Given the description of an element on the screen output the (x, y) to click on. 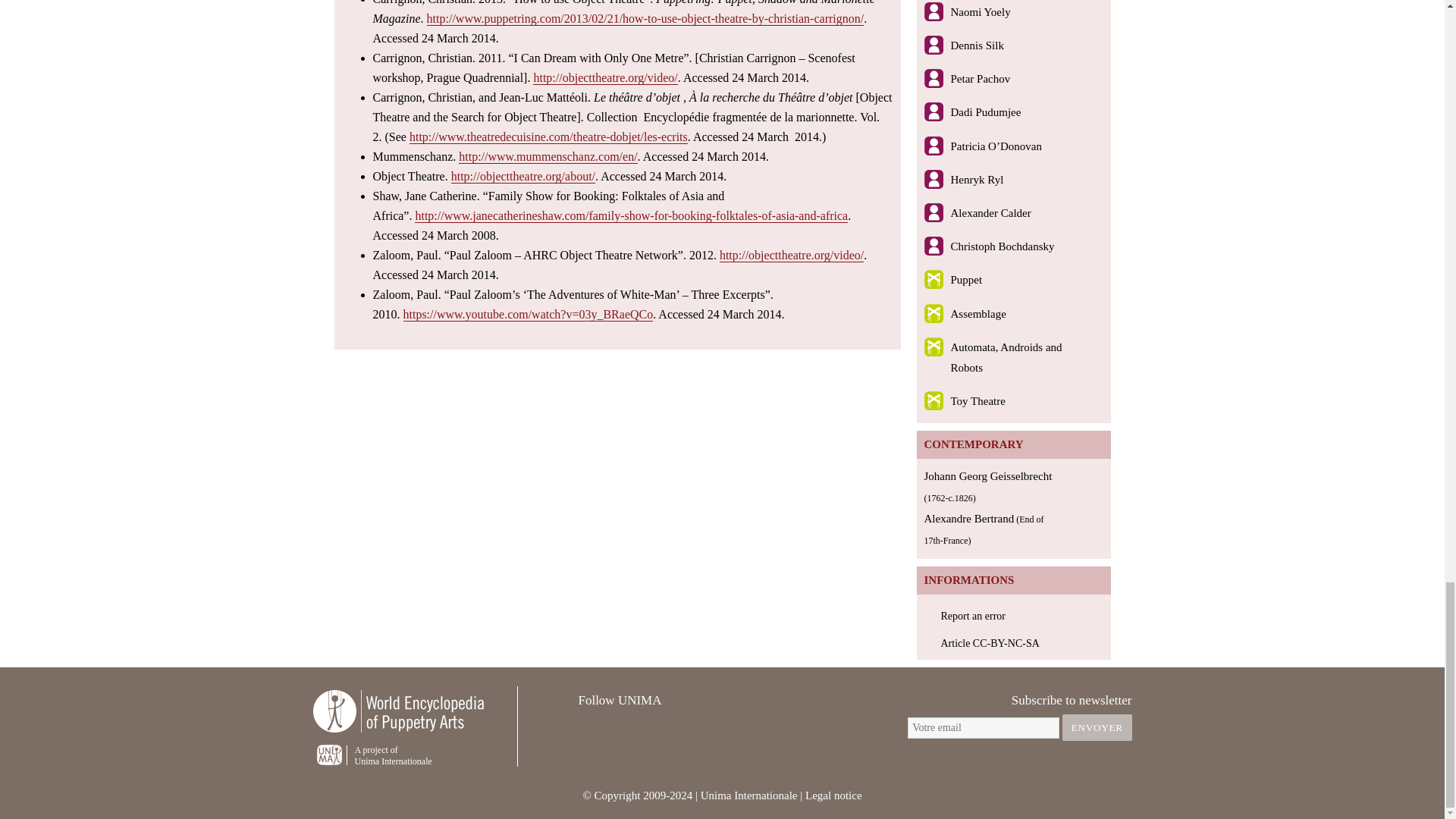
Envoyer (1096, 727)
